Given the description of an element on the screen output the (x, y) to click on. 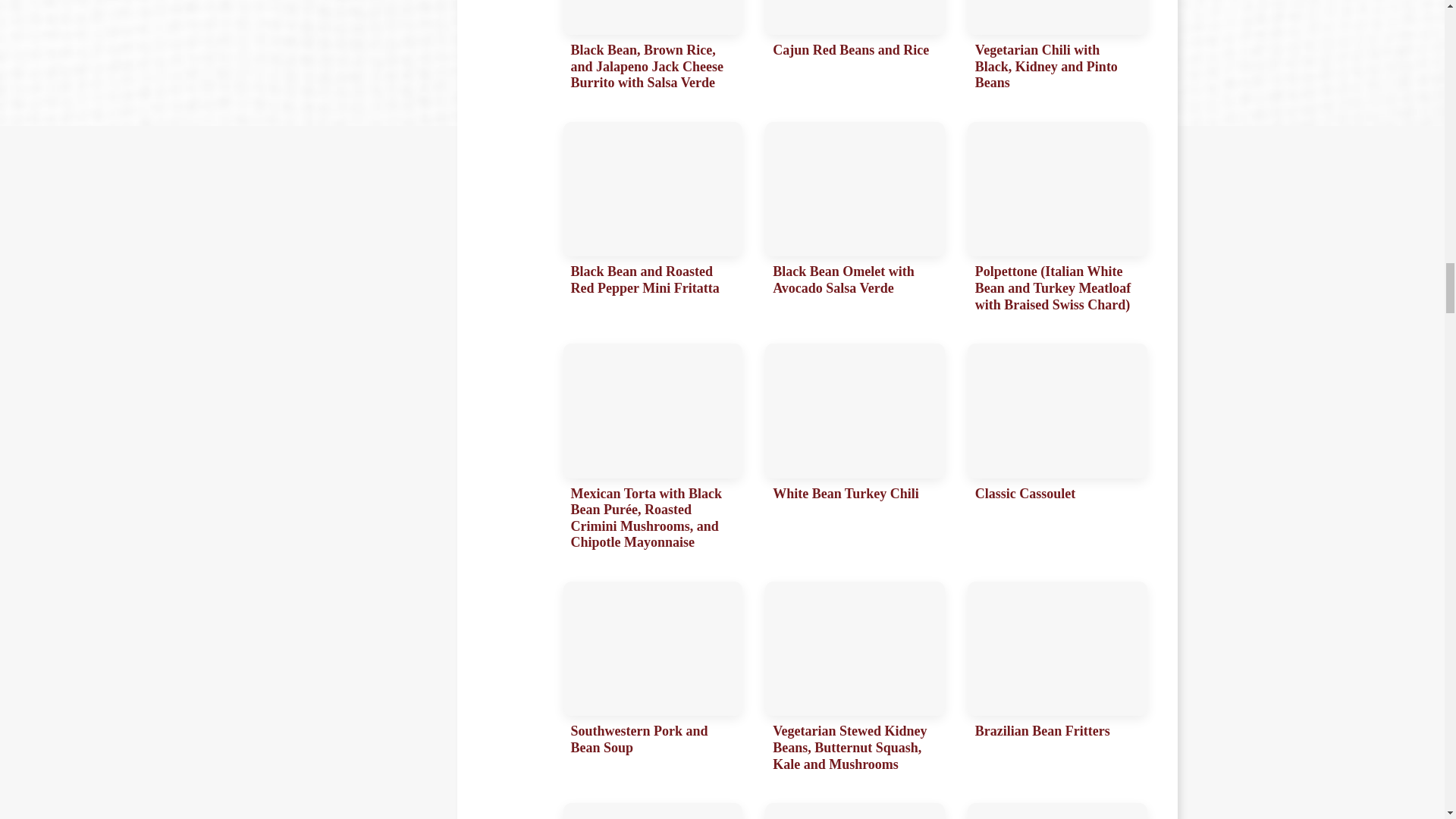
Southwestern Pork and Bean Soup (652, 680)
Black Bean Omelet with Avocado Salsa Verde (854, 221)
Greek Stuffed Peppers with Beans, Lamb, Rice and Herbs (854, 811)
Black Bean and Roasted Red Pepper Mini Fritatta (652, 221)
Vegetarian Chili with Black, Kidney and Pinto Beans (1057, 49)
Brazilian Bean Fritters (1057, 680)
